Given the description of an element on the screen output the (x, y) to click on. 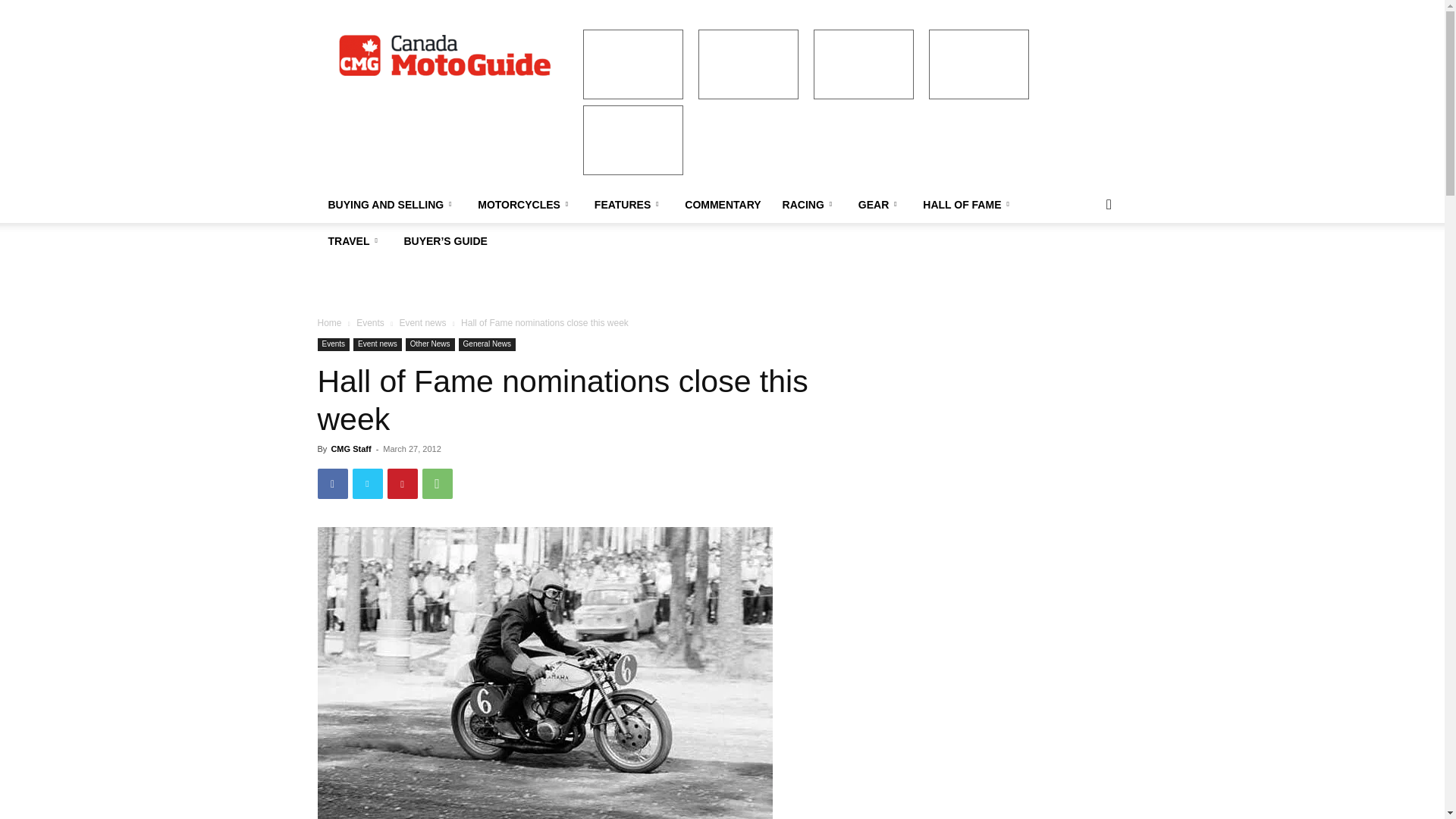
Canada Moto Guide (445, 55)
BUYING AND SELLING (392, 204)
3rd party ad content (862, 64)
MOTORCYCLES (525, 204)
View all posts in Events (370, 322)
3rd party ad content (978, 64)
3rd party ad content (747, 64)
3rd party ad content (632, 140)
3rd party ad content (744, 263)
3rd party ad content (632, 64)
